Given the description of an element on the screen output the (x, y) to click on. 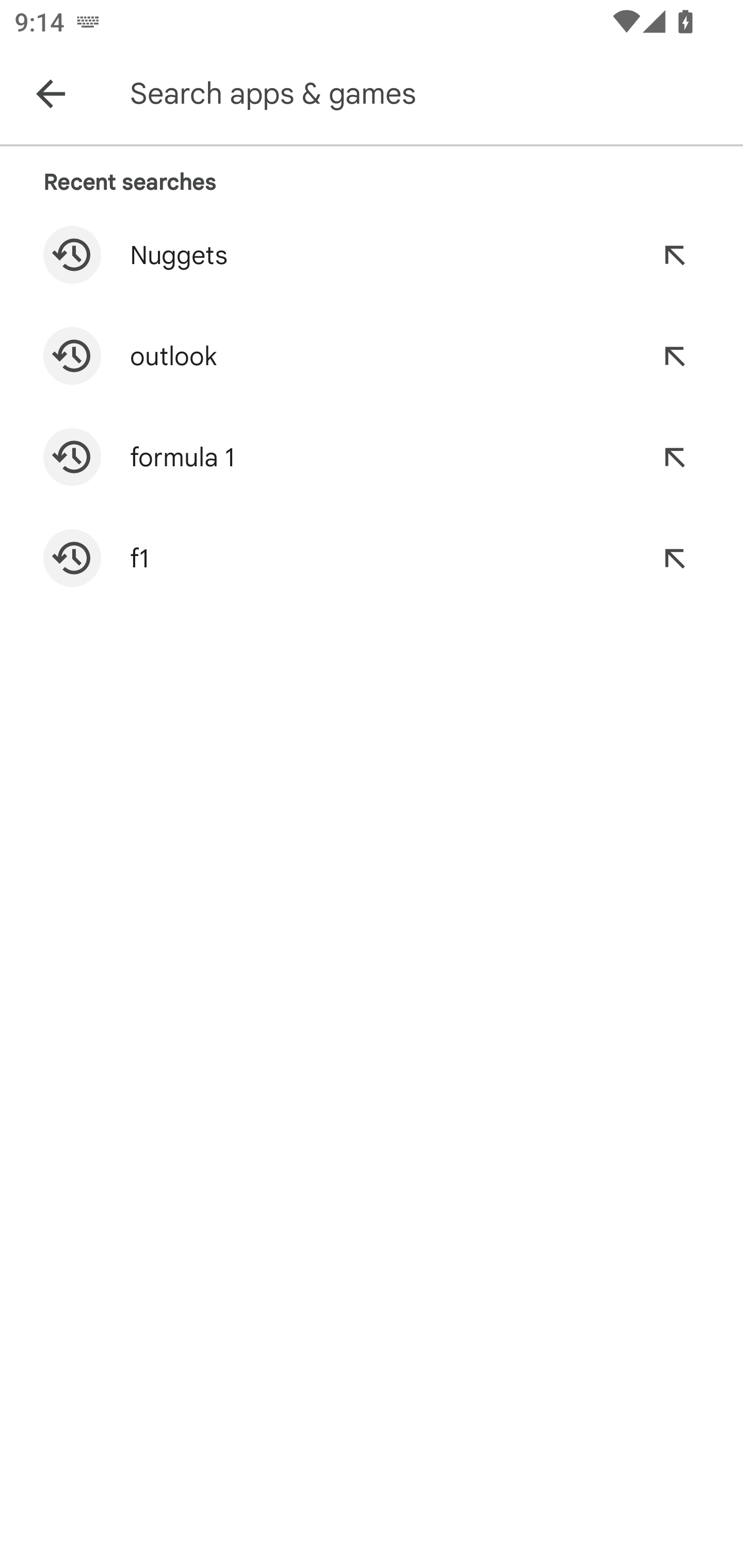
Navigate up (50, 93)
Search apps & games (432, 93)
Search for "Nuggets"  Refine search to "Nuggets" (371, 254)
Refine search to "Nuggets" (673, 254)
Search for "outlook"  Refine search to "outlook" (371, 355)
Refine search to "outlook" (673, 355)
Refine search to "formula 1" (673, 457)
Search for "f1"  Refine search to "f1" (371, 558)
Refine search to "f1" (673, 558)
